Given the description of an element on the screen output the (x, y) to click on. 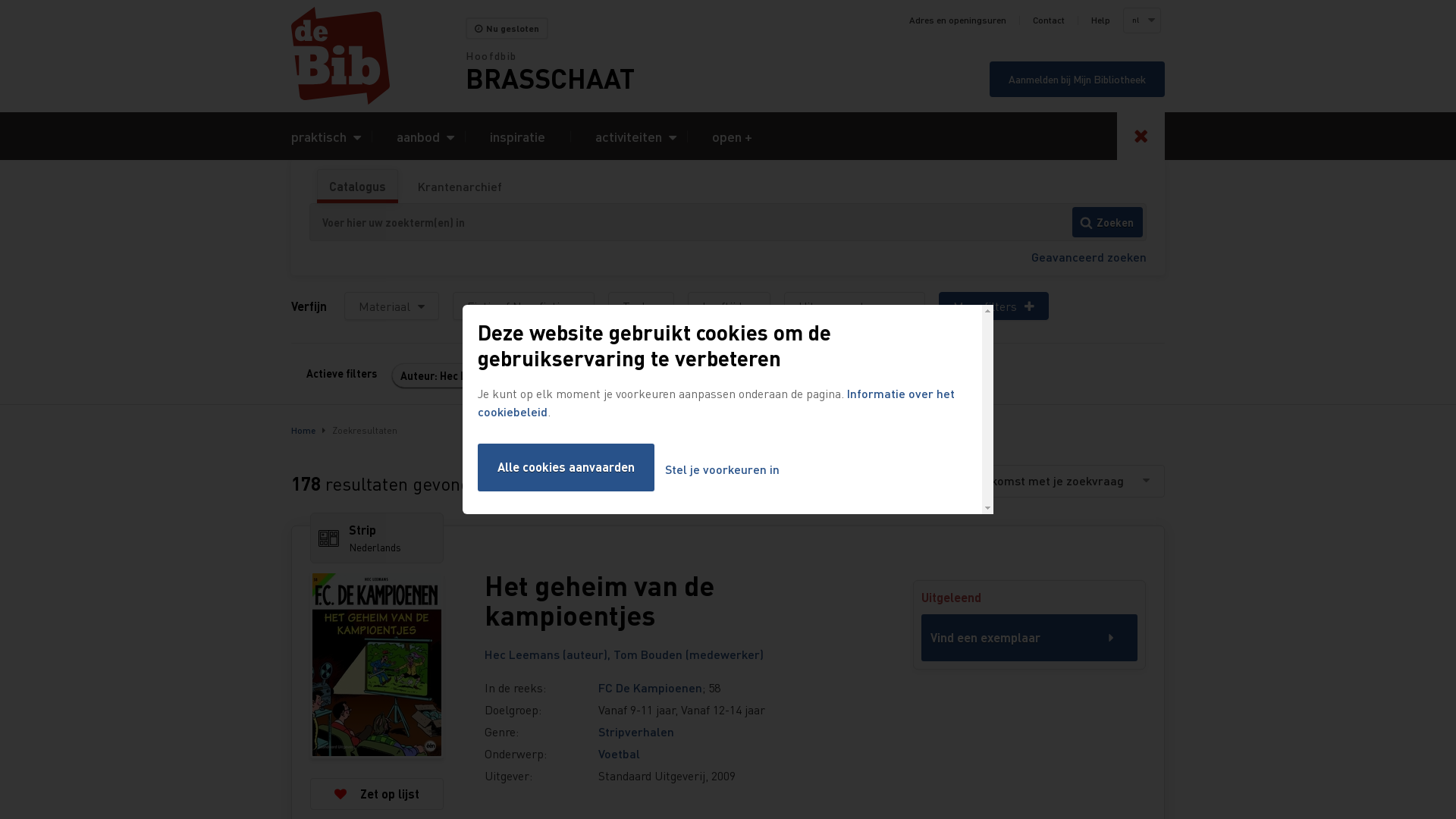
Informatie over het cookiebeleid Element type: text (715, 402)
Stripverhalen Element type: text (636, 731)
Home Element type: text (303, 430)
Geavanceerd zoeken Element type: text (1088, 256)
Home Element type: hover (378, 55)
Contact Element type: text (1048, 20)
Zoeken Element type: text (1107, 222)
Catalogus Element type: text (357, 186)
Tom Bouden (medewerker) Element type: text (688, 654)
Overslaan en naar zoeken gaan Element type: text (0, 0)
inspiratie Element type: text (517, 136)
Nu gesloten Element type: text (506, 28)
Voetbal Element type: text (619, 753)
Stel je voorkeuren in Element type: text (722, 469)
Vind een exemplaar Element type: text (1029, 637)
Alle filters wissen Element type: text (584, 375)
FC De Kampioenen Element type: text (650, 687)
Zet op lijst Element type: text (376, 793)
Het geheim van de kampioentjes Element type: text (676, 600)
Alle cookies aanvaarden Element type: text (565, 466)
Toggle search Element type: hover (1140, 136)
Aanmelden bij Mijn Bibliotheek Element type: text (1076, 79)
Overeenkomst met je zoekvraag Element type: text (1050, 480)
Krantenarchief Element type: text (459, 186)
Adres en openingsuren Element type: text (957, 20)
Hec Leemans (auteur), Element type: text (548, 654)
nl Element type: text (1140, 20)
open + Element type: text (732, 136)
Help Element type: text (1100, 20)
